Given the description of an element on the screen output the (x, y) to click on. 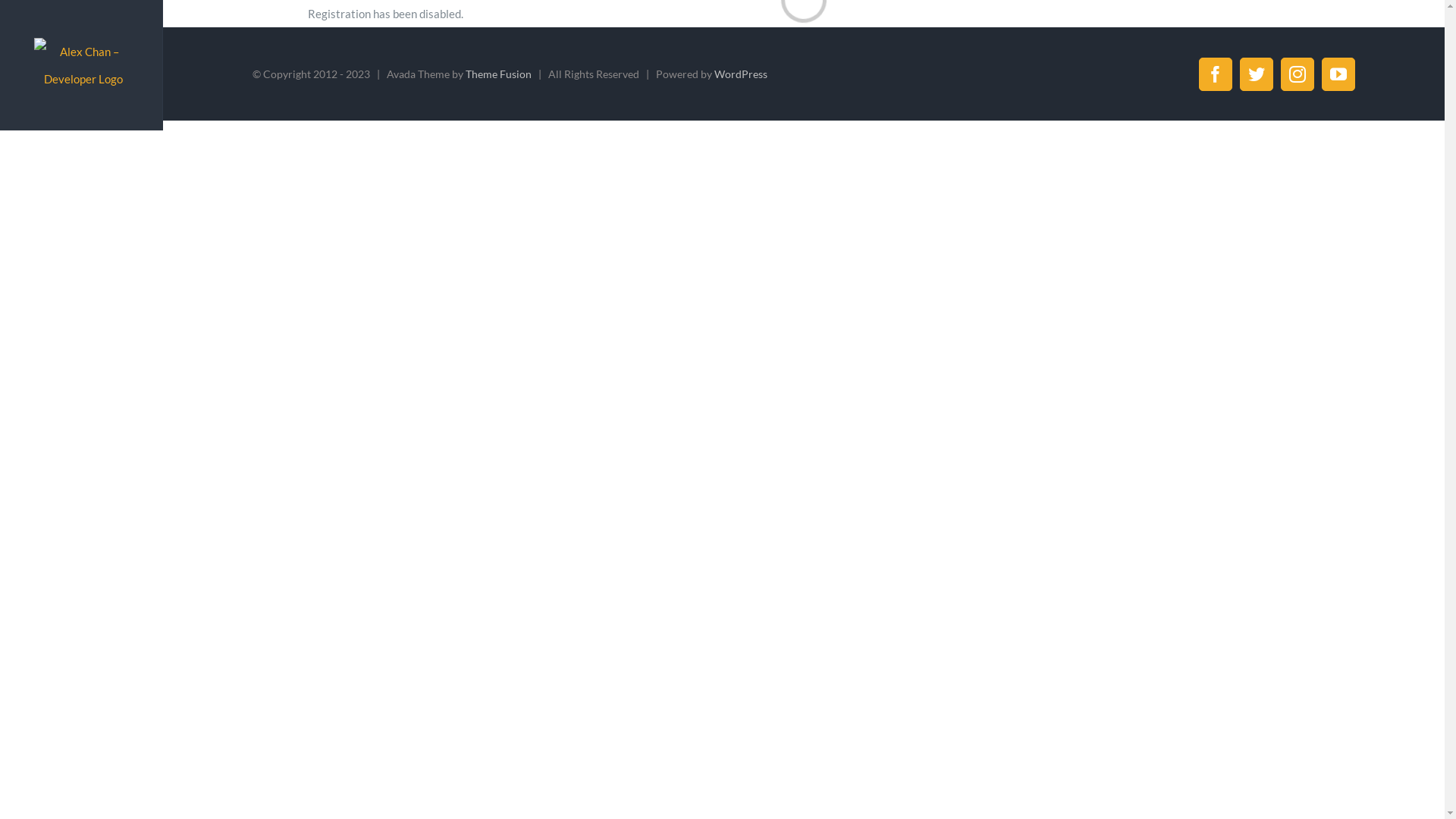
Instagram Element type: text (1297, 74)
Theme Fusion Element type: text (498, 73)
WordPress Element type: text (740, 73)
YouTube Element type: text (1338, 74)
Twitter Element type: text (1256, 74)
Facebook Element type: text (1215, 74)
